Given the description of an element on the screen output the (x, y) to click on. 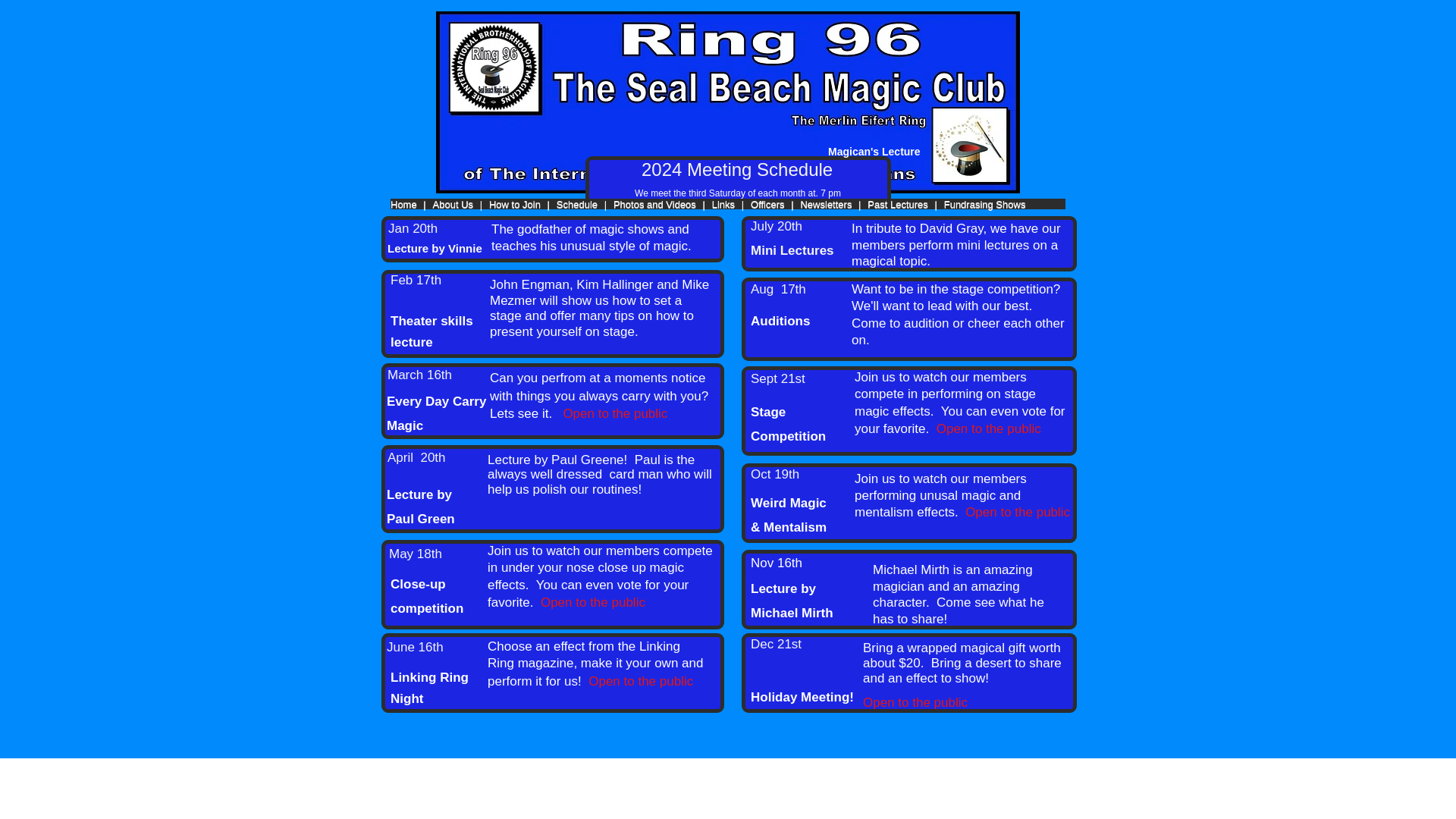
Past Lectures (897, 204)
Fundrasing Shows (984, 204)
Schedule (576, 204)
Newsletters (825, 204)
Photos and Videos (653, 204)
Links (723, 204)
How to Join (514, 204)
Home (403, 204)
About Us (452, 204)
Officers (767, 204)
